Given the description of an element on the screen output the (x, y) to click on. 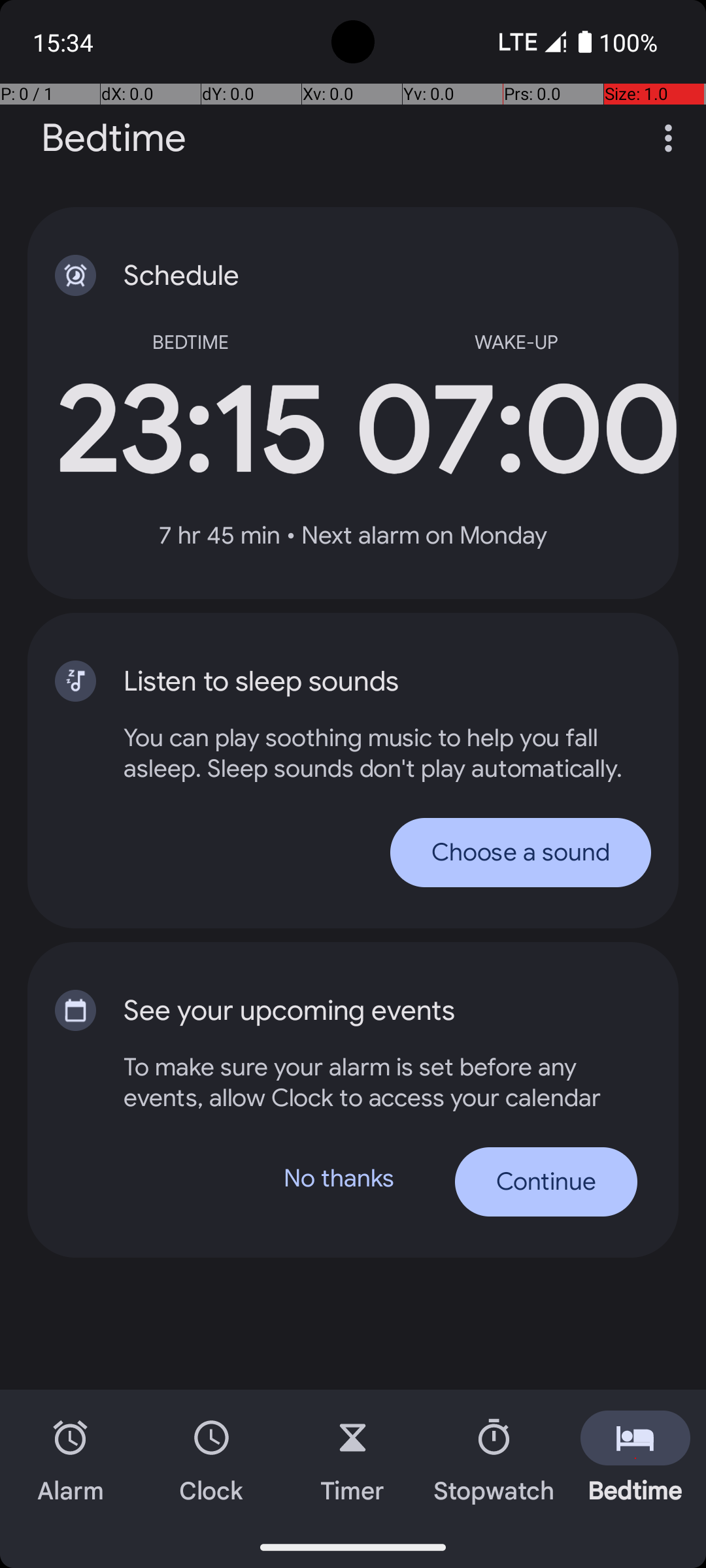
Schedule Element type: android.widget.TextView (359, 275)
23:15 Element type: android.widget.TextView (190, 430)
07:00 Element type: android.widget.TextView (515, 430)
7 hr 45 min • Next alarm on Monday Element type: android.widget.TextView (352, 535)
Listen to sleep sounds Element type: android.widget.TextView (359, 681)
You can play soothing music to help you fall asleep. Sleep sounds don't play automatically. Element type: android.widget.TextView (387, 753)
Choose a sound Element type: android.widget.Button (520, 852)
See your upcoming events Element type: android.widget.TextView (359, 1010)
To make sure your alarm is set before any events, allow Clock to access your calendar Element type: android.widget.TextView (380, 1082)
Continue Element type: android.widget.Button (545, 1181)
